Given the description of an element on the screen output the (x, y) to click on. 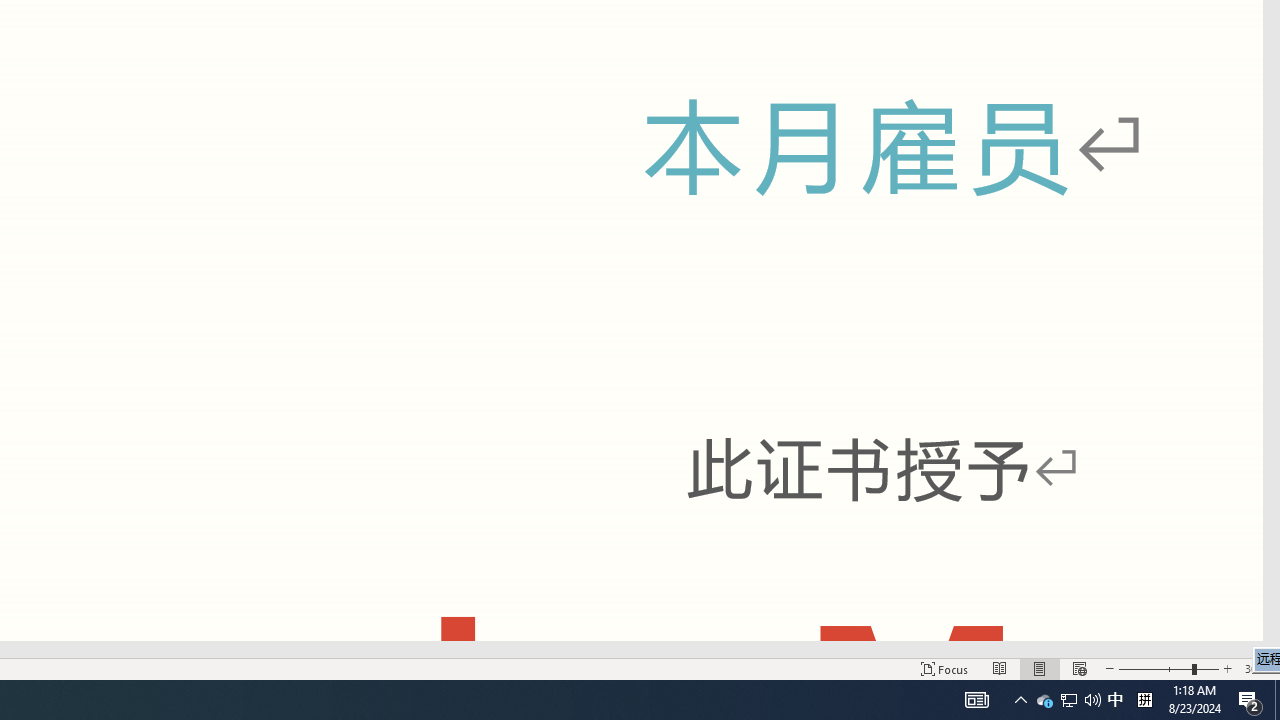
Zoom 308% (1258, 668)
